Given the description of an element on the screen output the (x, y) to click on. 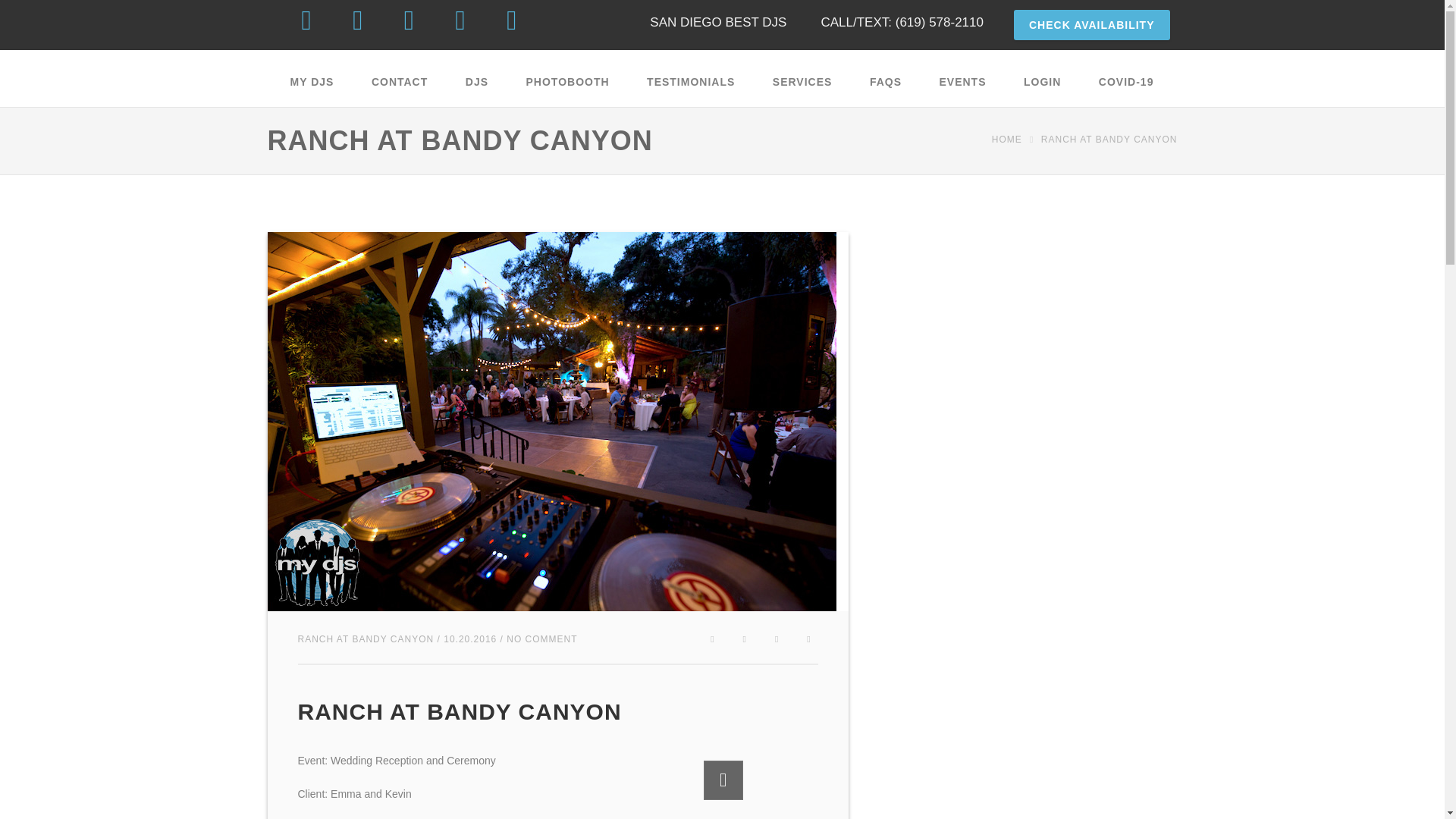
CONTACT (399, 81)
HOME (1008, 139)
LOGIN (1041, 81)
SERVICES (802, 81)
EVENTS (962, 81)
MY DJs San Diego Contact Form (399, 81)
PHOTOBOOTH (568, 81)
DJS (476, 81)
San Diego DJ Reviews (689, 81)
MY DJS (312, 81)
